Given the description of an element on the screen output the (x, y) to click on. 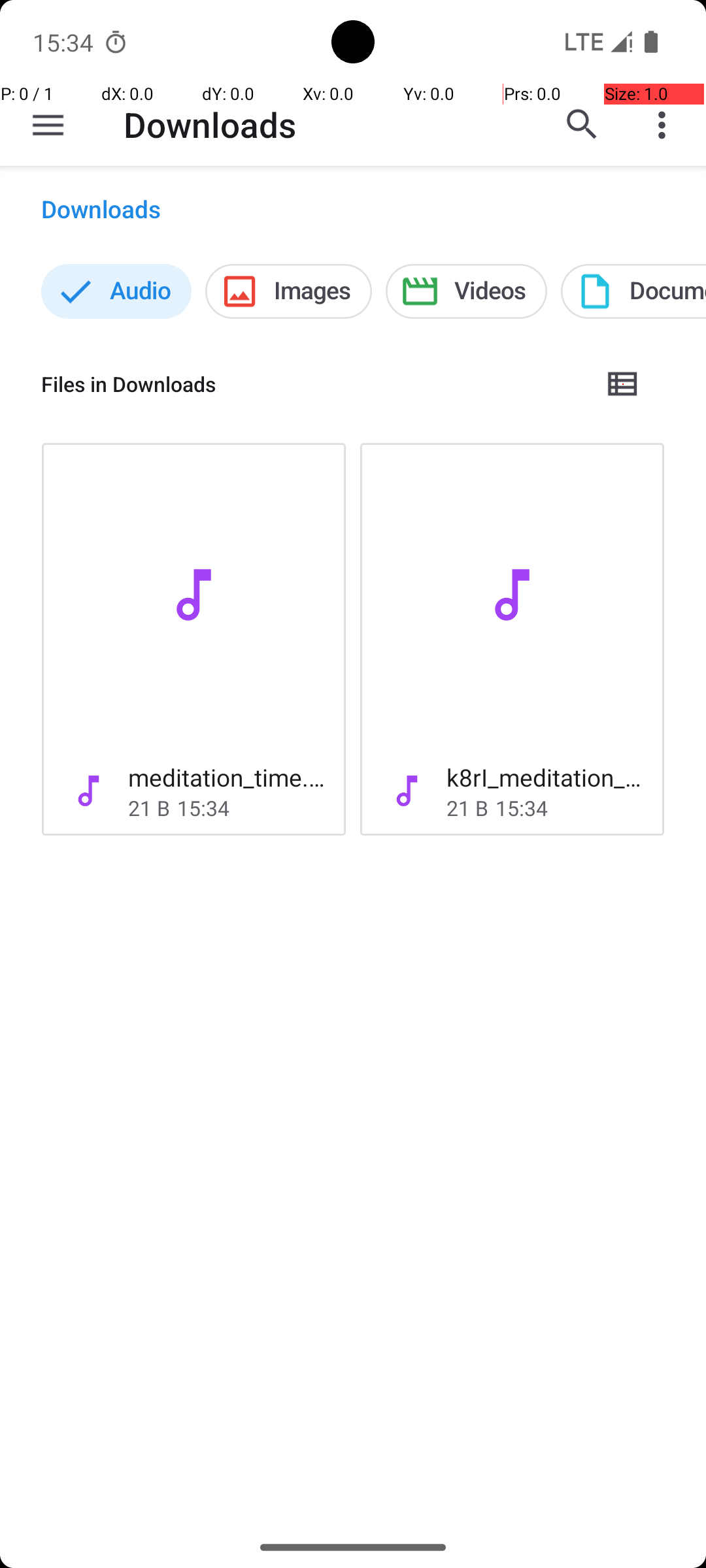
meditation_time.mp3 Element type: android.widget.TextView (226, 776)
21 B Element type: android.widget.TextView (148, 807)
k8rI_meditation_time.mp3 Element type: android.widget.TextView (544, 776)
